Given the description of an element on the screen output the (x, y) to click on. 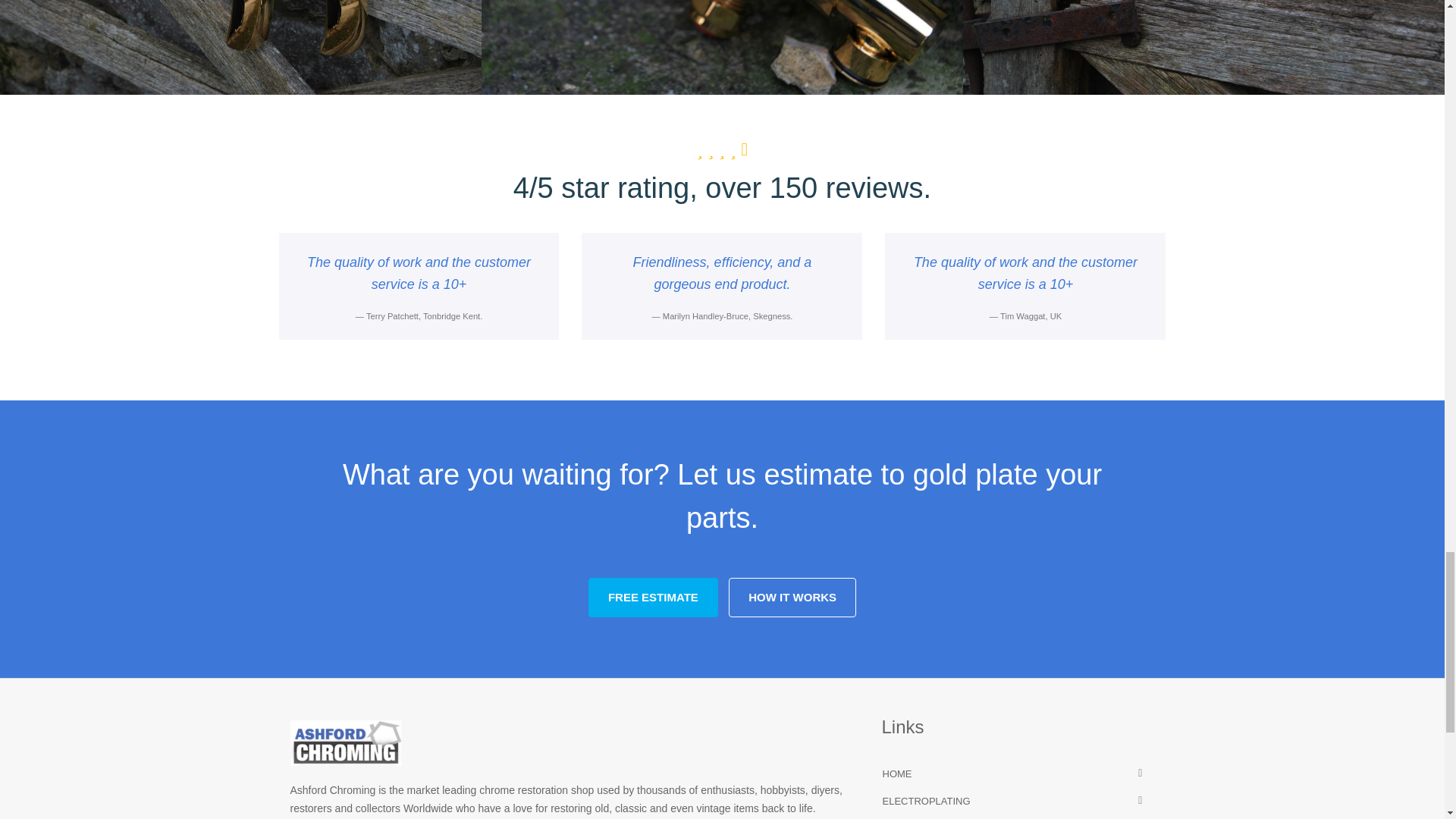
Source Title (423, 316)
Source Title (1030, 316)
Source Title (727, 316)
